Given the description of an element on the screen output the (x, y) to click on. 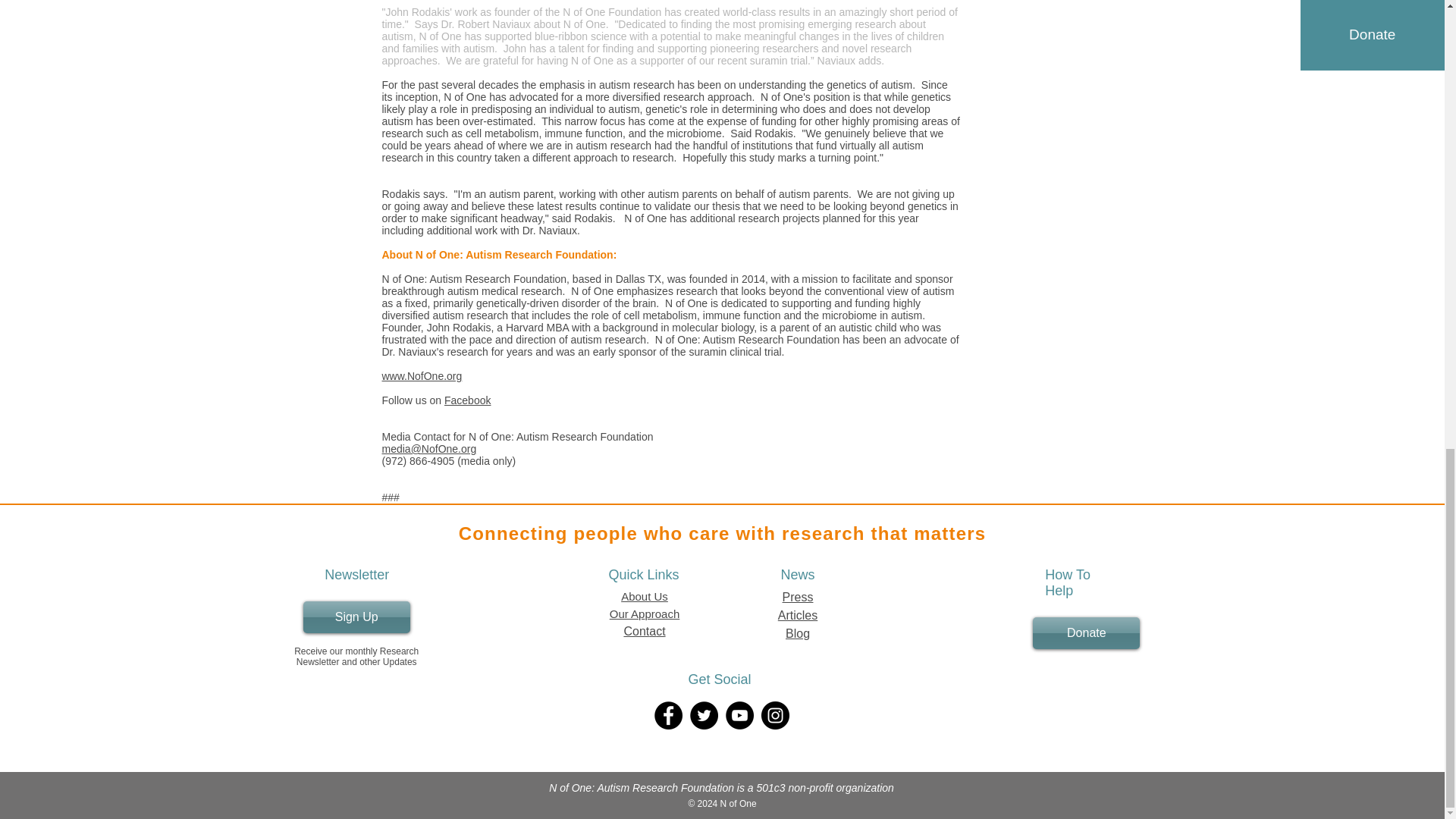
News (797, 574)
Newsletter (356, 574)
Sign Up (356, 617)
www.NofOne.org (422, 376)
Connecting people who care with research that matters (722, 533)
Contact (644, 631)
Facebook (467, 399)
How To Help (1067, 582)
Blog (797, 633)
Donate (1086, 633)
Articles (796, 615)
Press (798, 596)
